Given the description of an element on the screen output the (x, y) to click on. 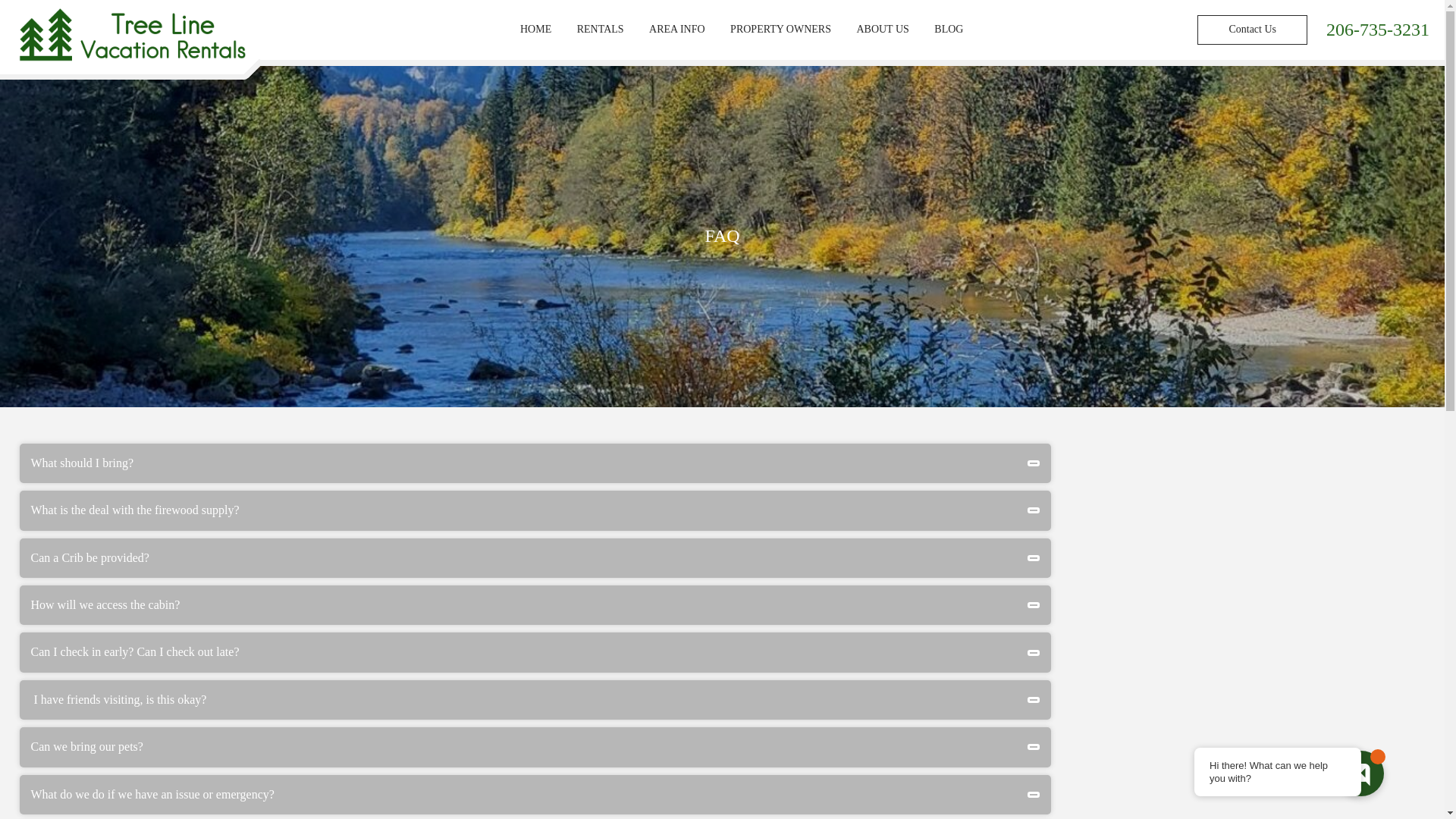
AREA INFO (676, 29)
206-735-3231 (1377, 29)
PROPERTY OWNERS (781, 29)
RENTALS (600, 29)
HOME (535, 29)
BLOG (948, 29)
Contact Us (1251, 30)
Web Chat Toggle (1361, 773)
ABOUT US (882, 29)
